Given the description of an element on the screen output the (x, y) to click on. 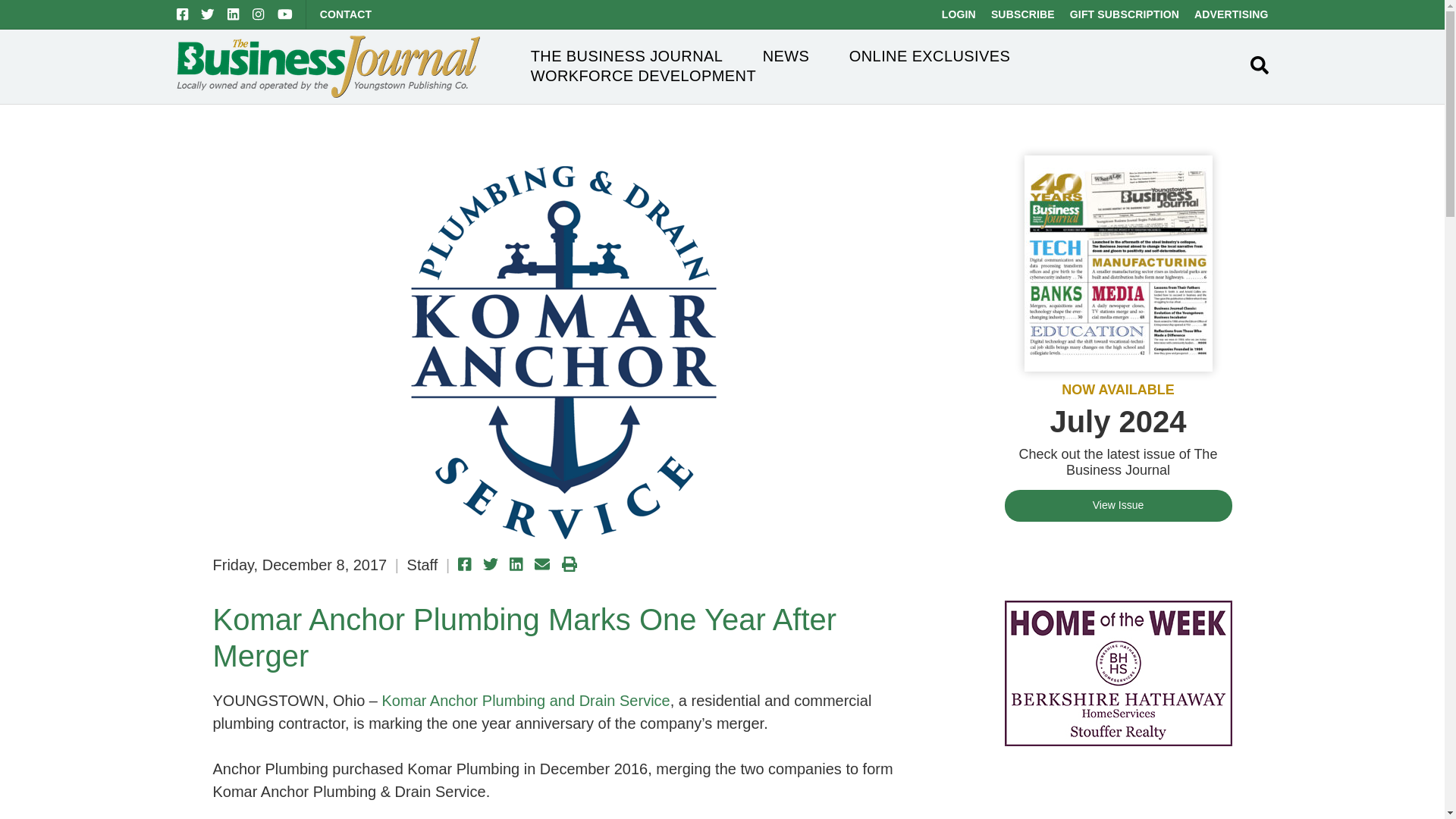
ADVERTISING (1230, 14)
Share on Twitter (490, 563)
Share on email (542, 563)
NEWS (785, 55)
Share on email (542, 563)
GIFT SUBSCRIPTION (1124, 14)
YouTube (285, 13)
YOUTUBE (285, 14)
TWITTER (207, 14)
Twitter (207, 13)
Share on Twitter (490, 563)
YOUTUBE (285, 13)
TWITTER (207, 13)
CONTACT (346, 14)
Share on print (569, 563)
